Given the description of an element on the screen output the (x, y) to click on. 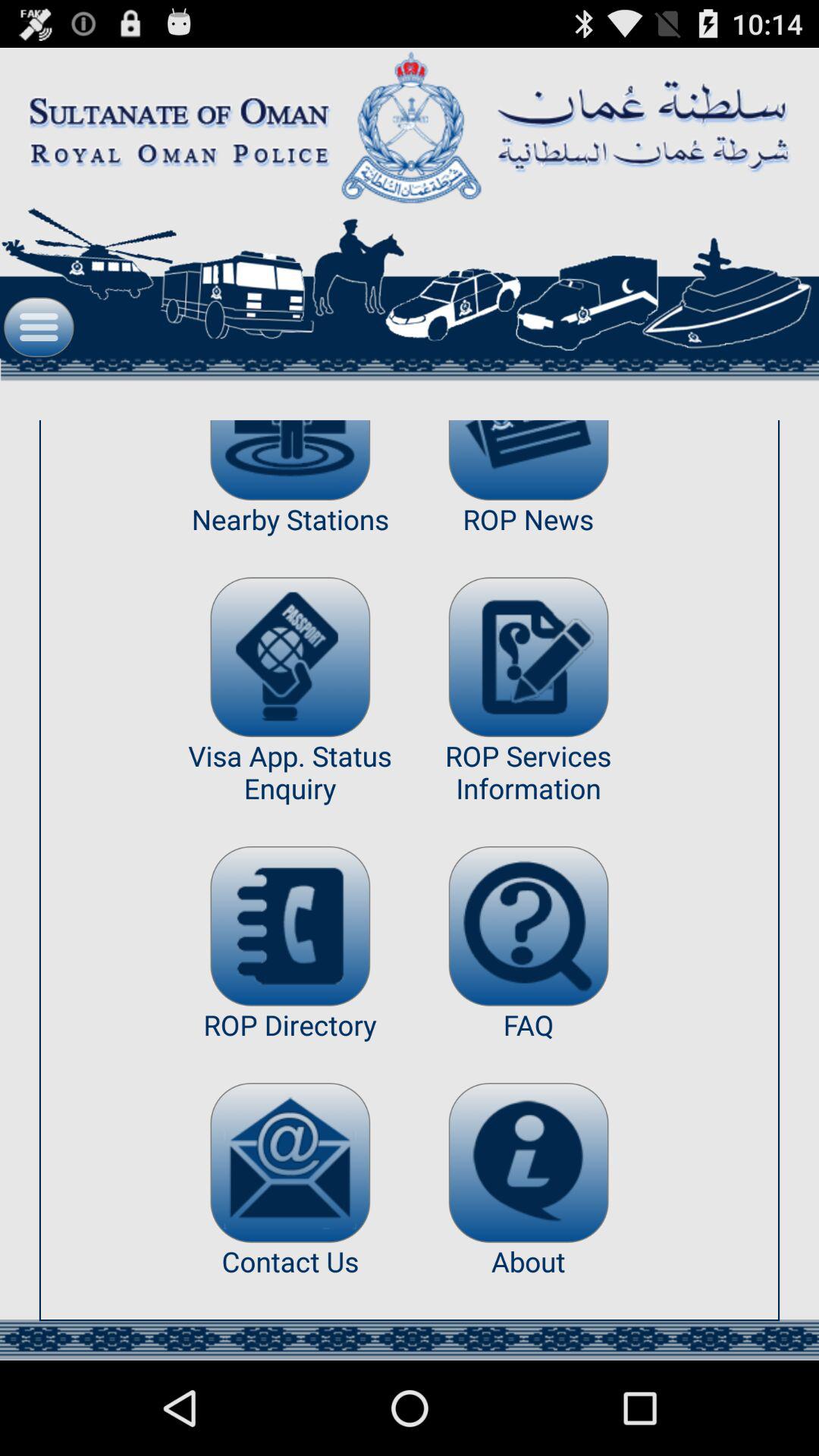
about (528, 1162)
